Given the description of an element on the screen output the (x, y) to click on. 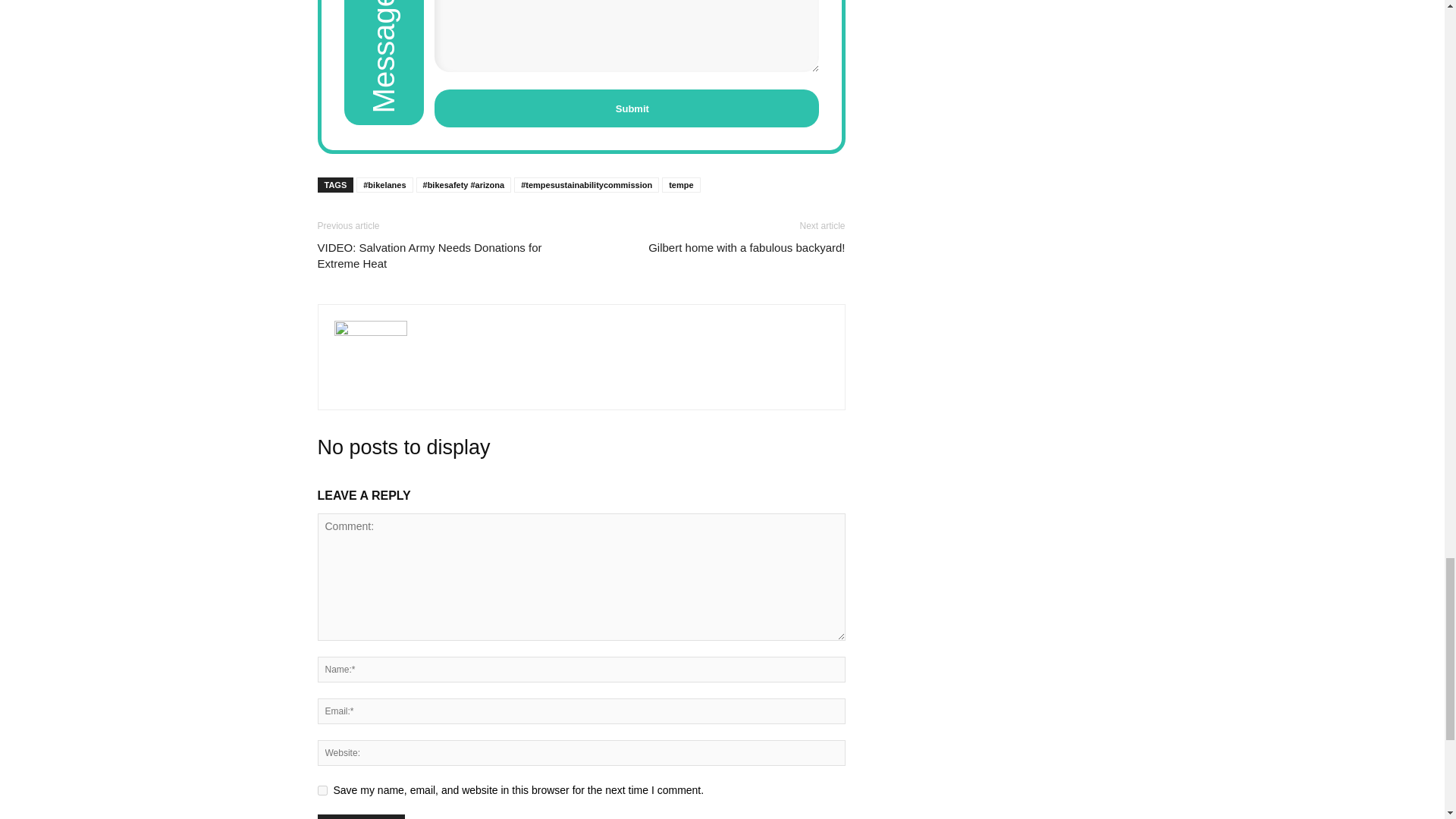
yes (321, 790)
Submit (625, 108)
Post Comment (360, 816)
